Given the description of an element on the screen output the (x, y) to click on. 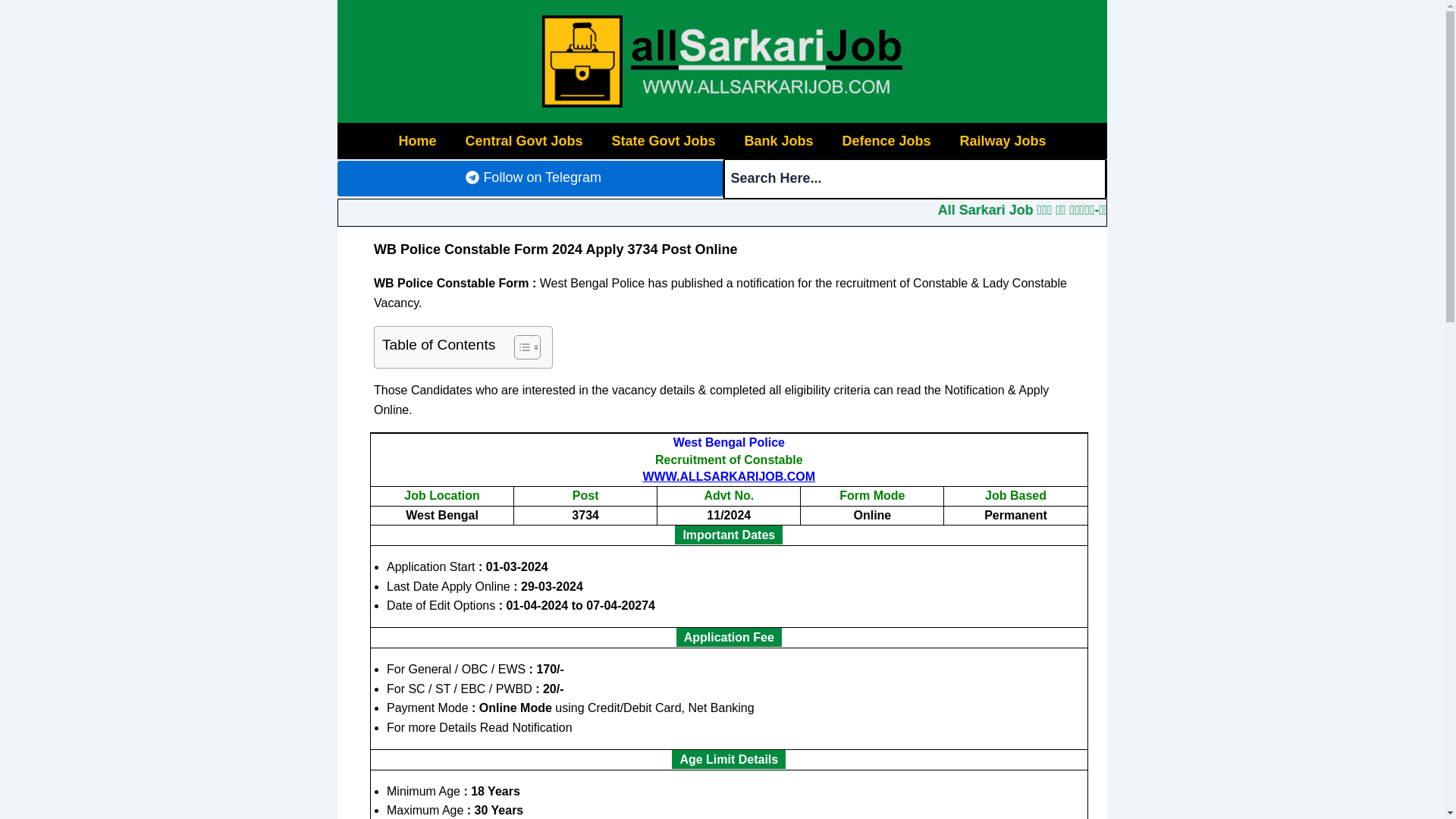
Home (416, 140)
State Govt Jobs (662, 140)
Railway Jobs (1003, 140)
WWW.ALLSARKARIJOB.COM (729, 476)
Defence Jobs (886, 140)
Bank Jobs (778, 140)
Follow on Telegram (529, 178)
Search (915, 178)
Central Govt Jobs (523, 140)
